Given the description of an element on the screen output the (x, y) to click on. 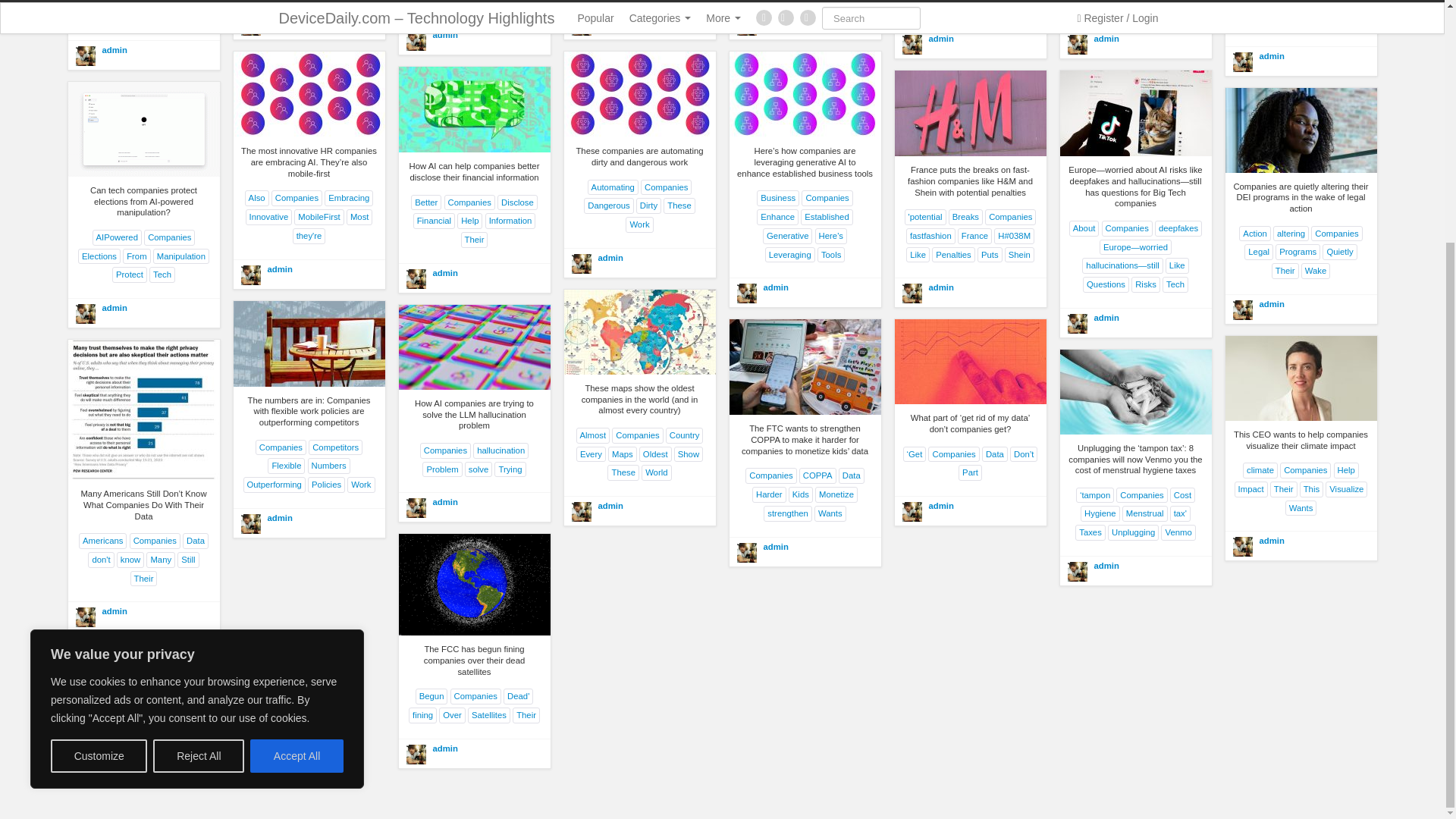
Posts by admin (279, 19)
Accept All (296, 419)
Posts by admin (940, 38)
Posts by admin (444, 34)
Posts by admin (444, 272)
Posts by admin (113, 49)
Reject All (198, 419)
Posts by admin (1271, 55)
Posts by admin (774, 19)
Customize (98, 419)
Posts by admin (609, 257)
Posts by admin (279, 268)
Posts by admin (774, 286)
Posts by admin (1105, 38)
Posts by admin (609, 19)
